Given the description of an element on the screen output the (x, y) to click on. 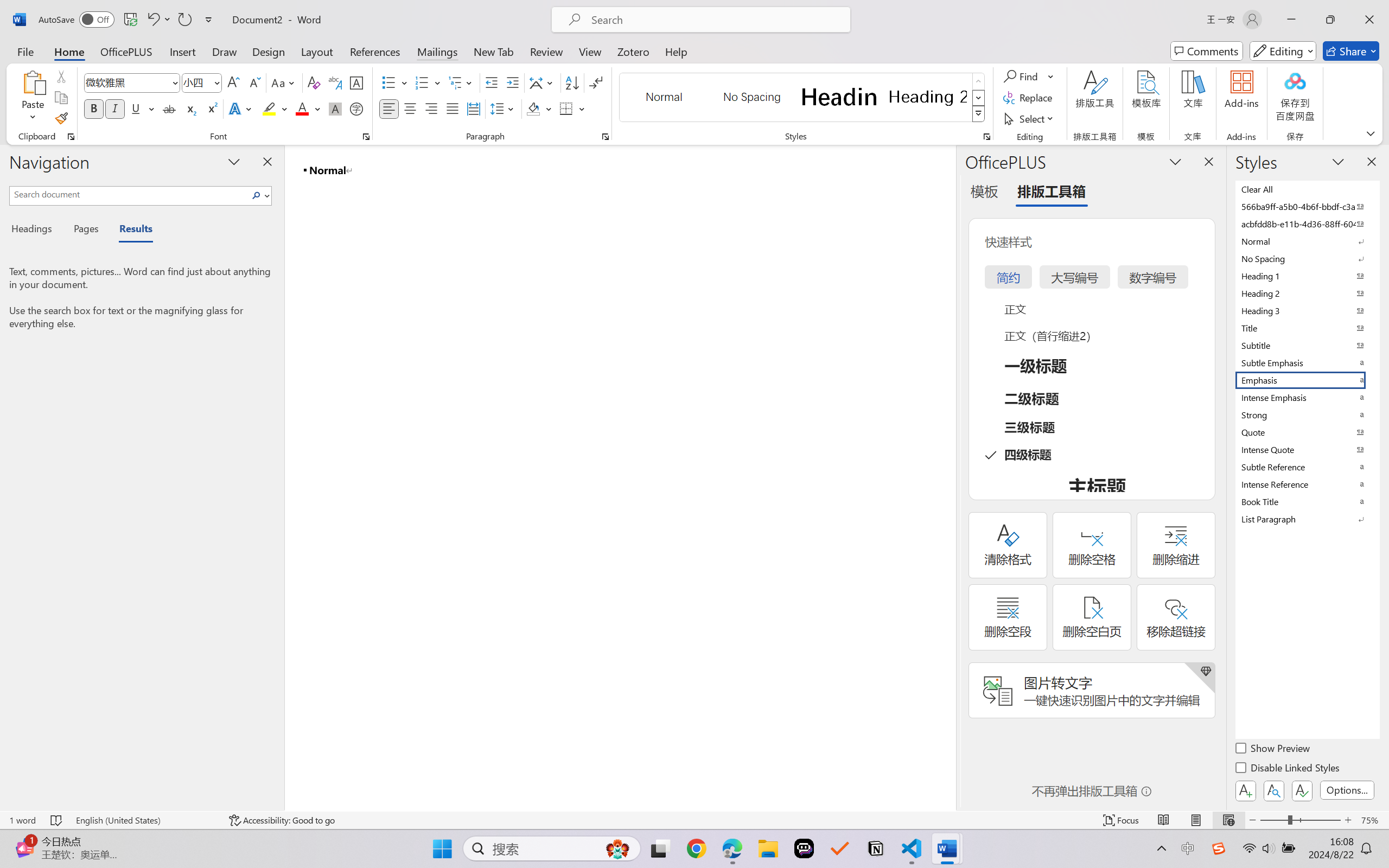
Enclose Characters... (356, 108)
Web Layout (1228, 819)
Numbering (428, 82)
Subtle Emphasis (1306, 362)
AutomationID: QuickStylesGallery (802, 97)
Italic (115, 108)
View (589, 51)
Font (132, 82)
Select (1030, 118)
